Given the description of an element on the screen output the (x, y) to click on. 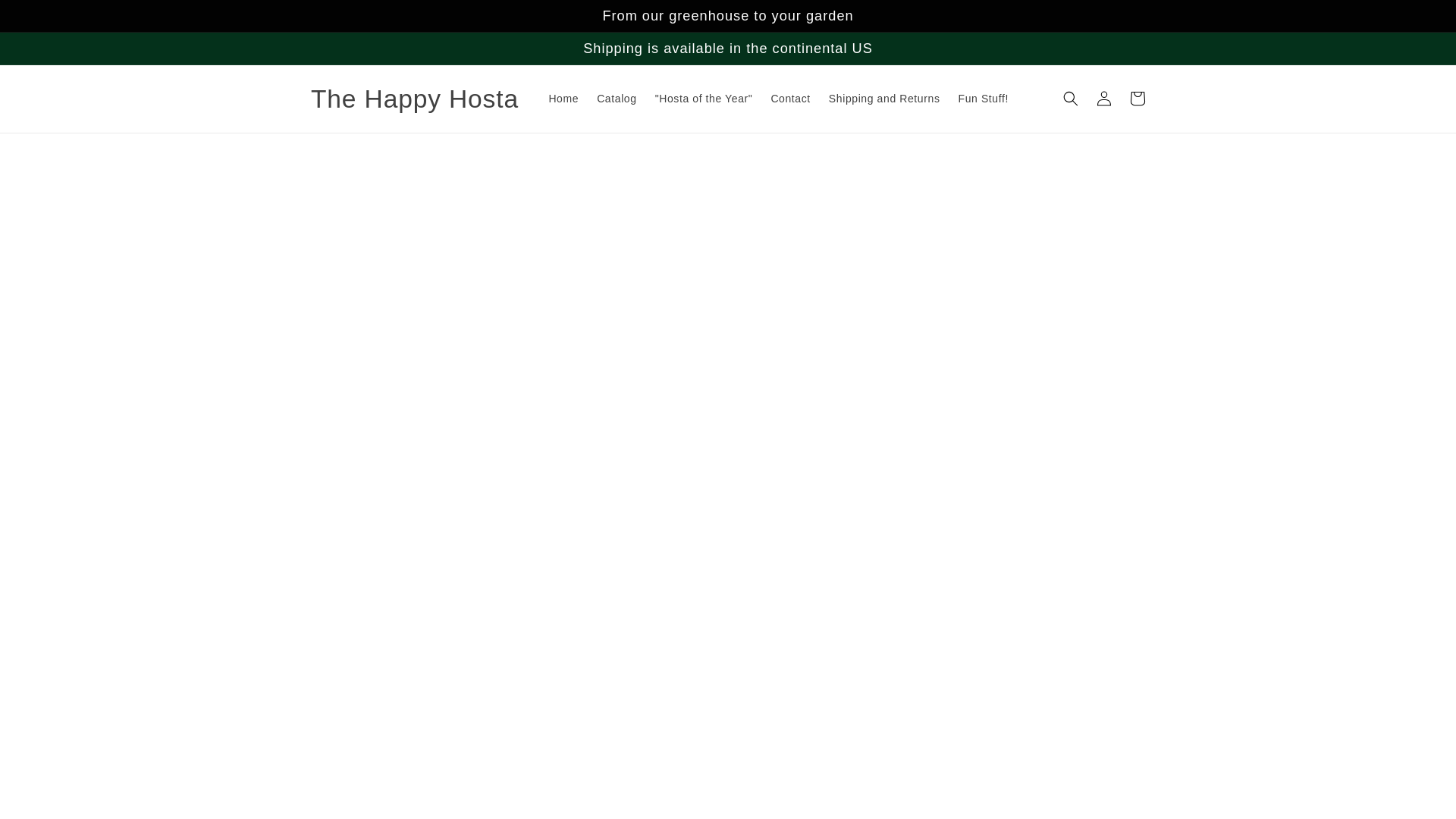
Shipping and Returns (884, 98)
Home (563, 98)
Cart (1137, 98)
Contact (789, 98)
Fun Stuff! (983, 98)
Skip to content (45, 17)
The Happy Hosta (414, 98)
Log in (1104, 98)
"Hosta of the Year" (703, 98)
Catalog (616, 98)
